Given the description of an element on the screen output the (x, y) to click on. 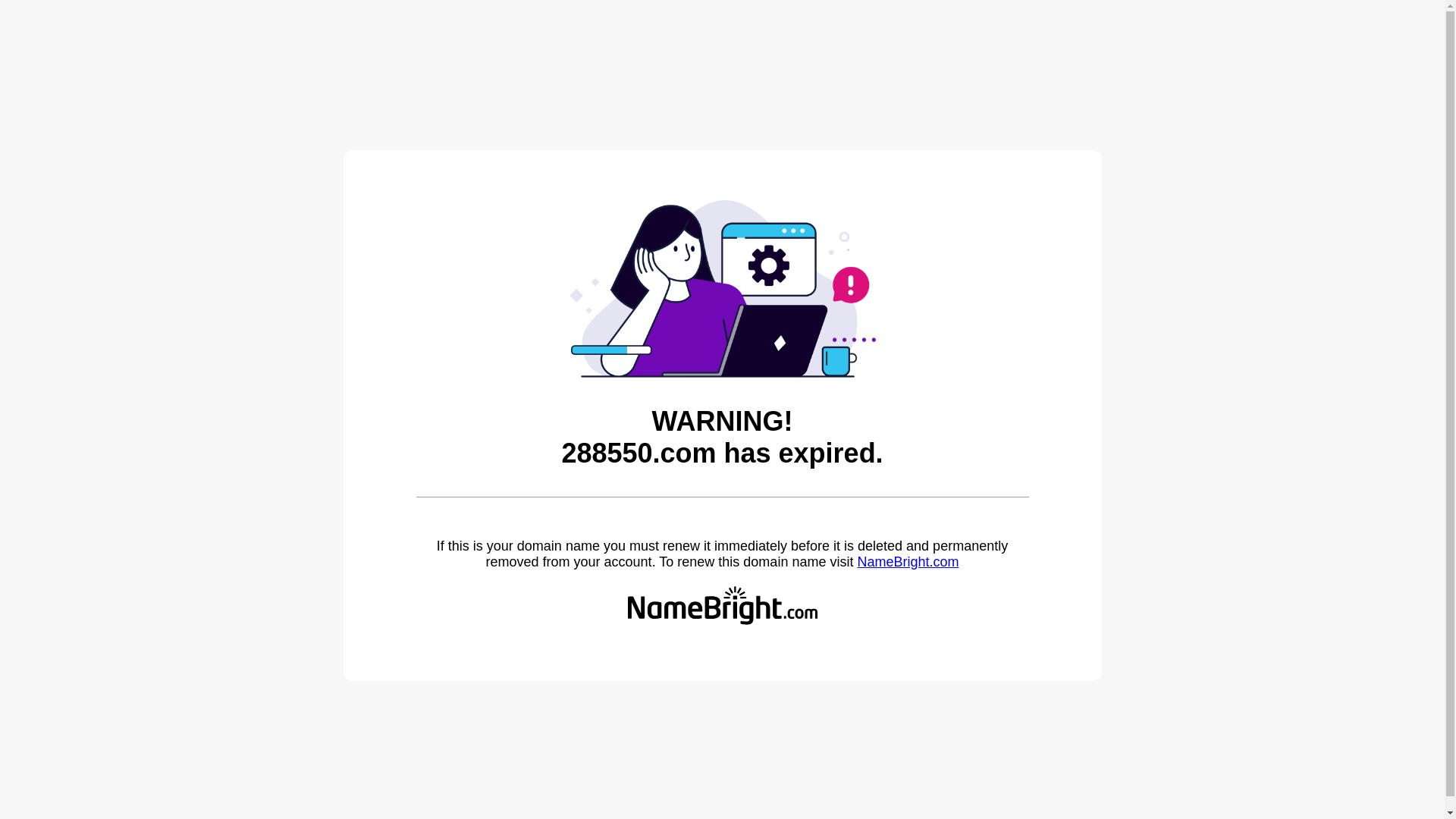
NameBright.com Element type: text (907, 561)
